Given the description of an element on the screen output the (x, y) to click on. 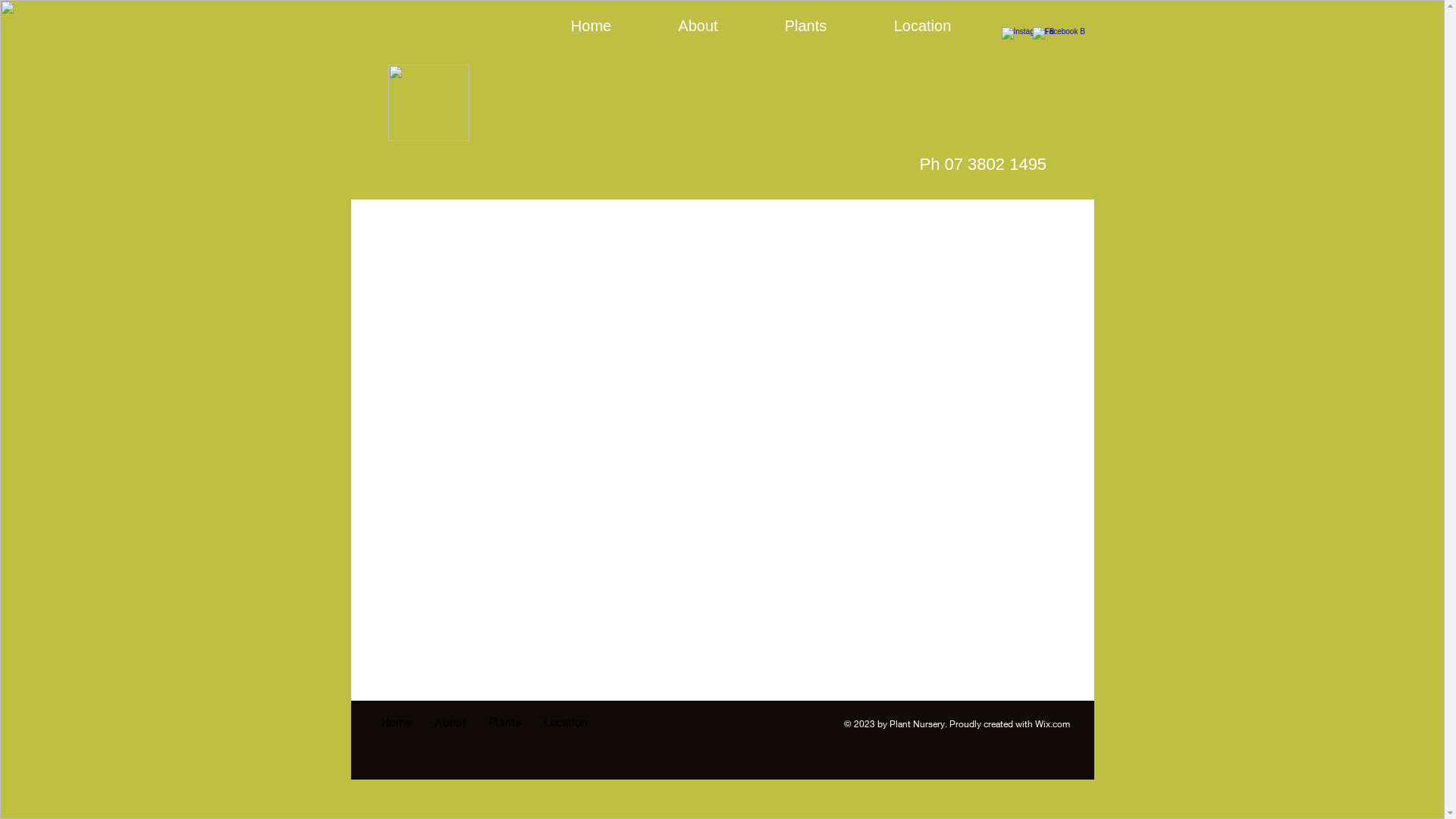
Location Element type: text (565, 723)
Home Element type: text (396, 723)
Location Element type: text (921, 25)
About Element type: text (697, 25)
Home Element type: text (590, 25)
Wix.com Element type: text (1051, 723)
Plants Element type: text (804, 25)
Plants Element type: text (503, 723)
About Element type: text (449, 723)
